Given the description of an element on the screen output the (x, y) to click on. 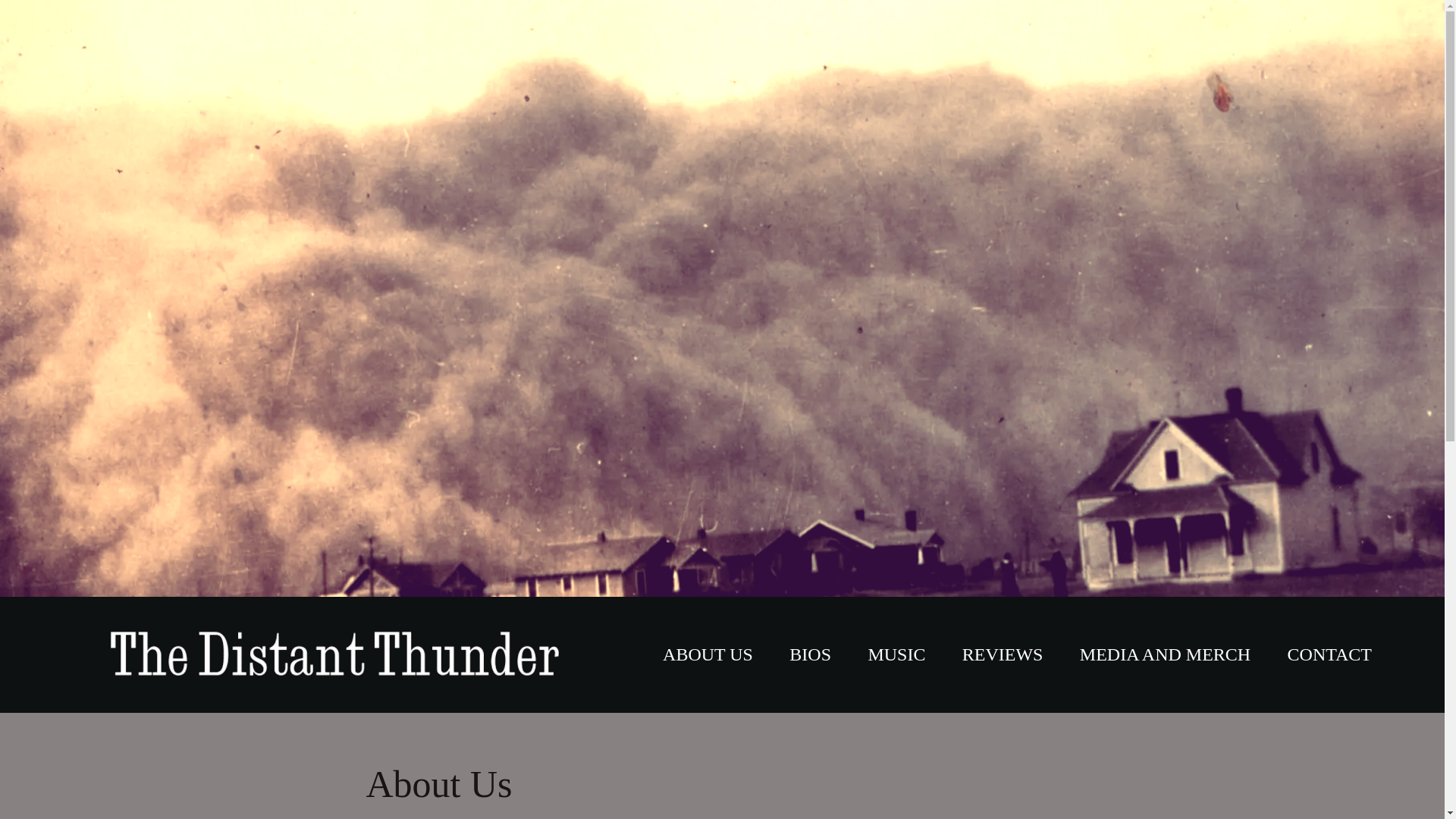
MEDIA AND MERCH (1165, 654)
MUSIC (895, 654)
REVIEWS (1002, 654)
ABOUT US (707, 654)
BIOS (810, 654)
CONTACT (1329, 654)
